Given the description of an element on the screen output the (x, y) to click on. 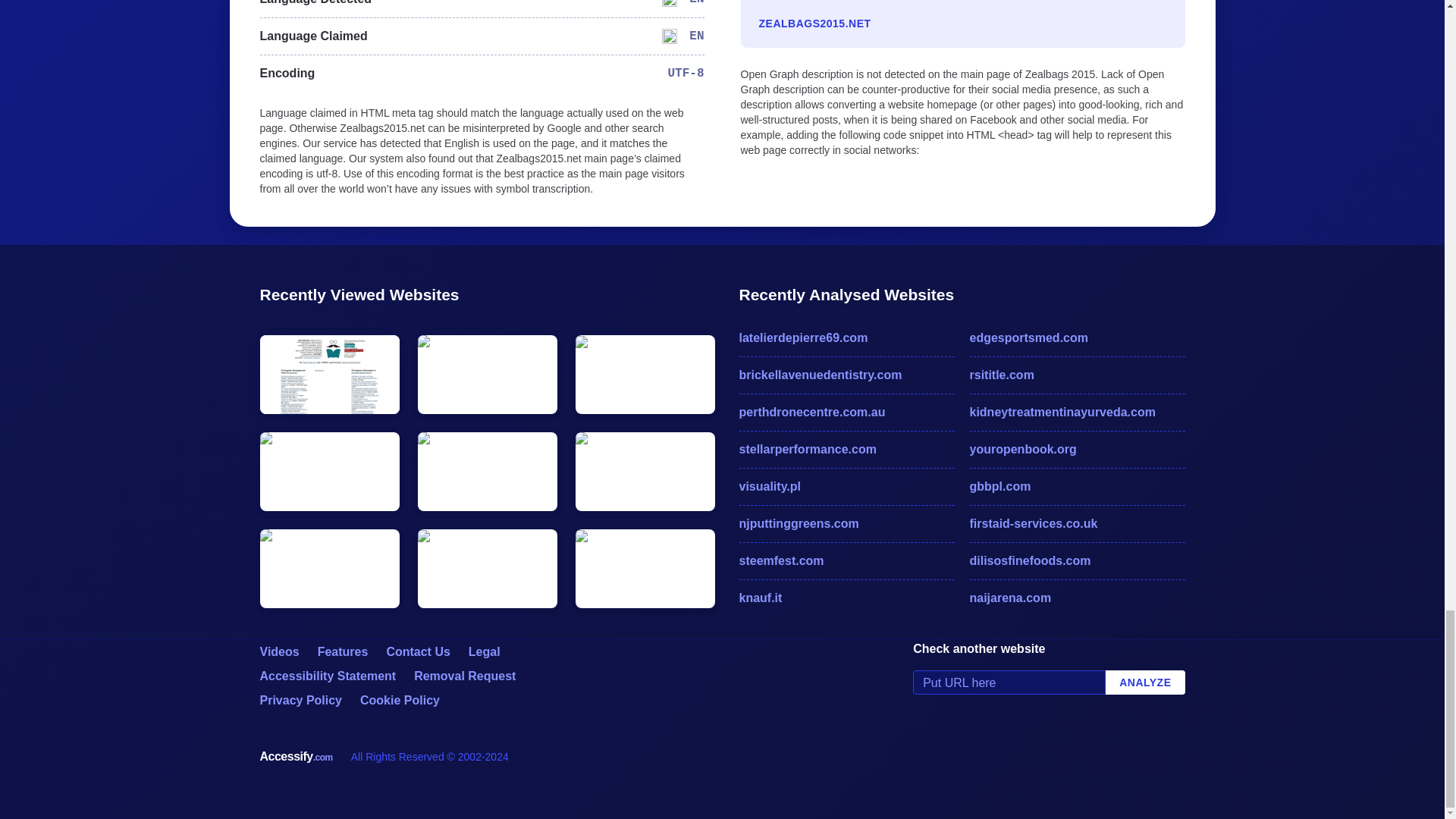
Videos (278, 651)
rsititle.com (1077, 375)
youropenbook.org (1077, 449)
perthdronecentre.com.au (845, 412)
firstaid-services.co.uk (1077, 524)
Legal (484, 651)
steemfest.com (845, 561)
edgesportsmed.com (1077, 338)
visuality.pl (845, 486)
Screencasts: video tutorials and guides (278, 651)
stellarperformance.com (845, 449)
Features (342, 651)
gbbpl.com (1077, 486)
njputtinggreens.com (845, 524)
brickellavenuedentistry.com (845, 375)
